Given the description of an element on the screen output the (x, y) to click on. 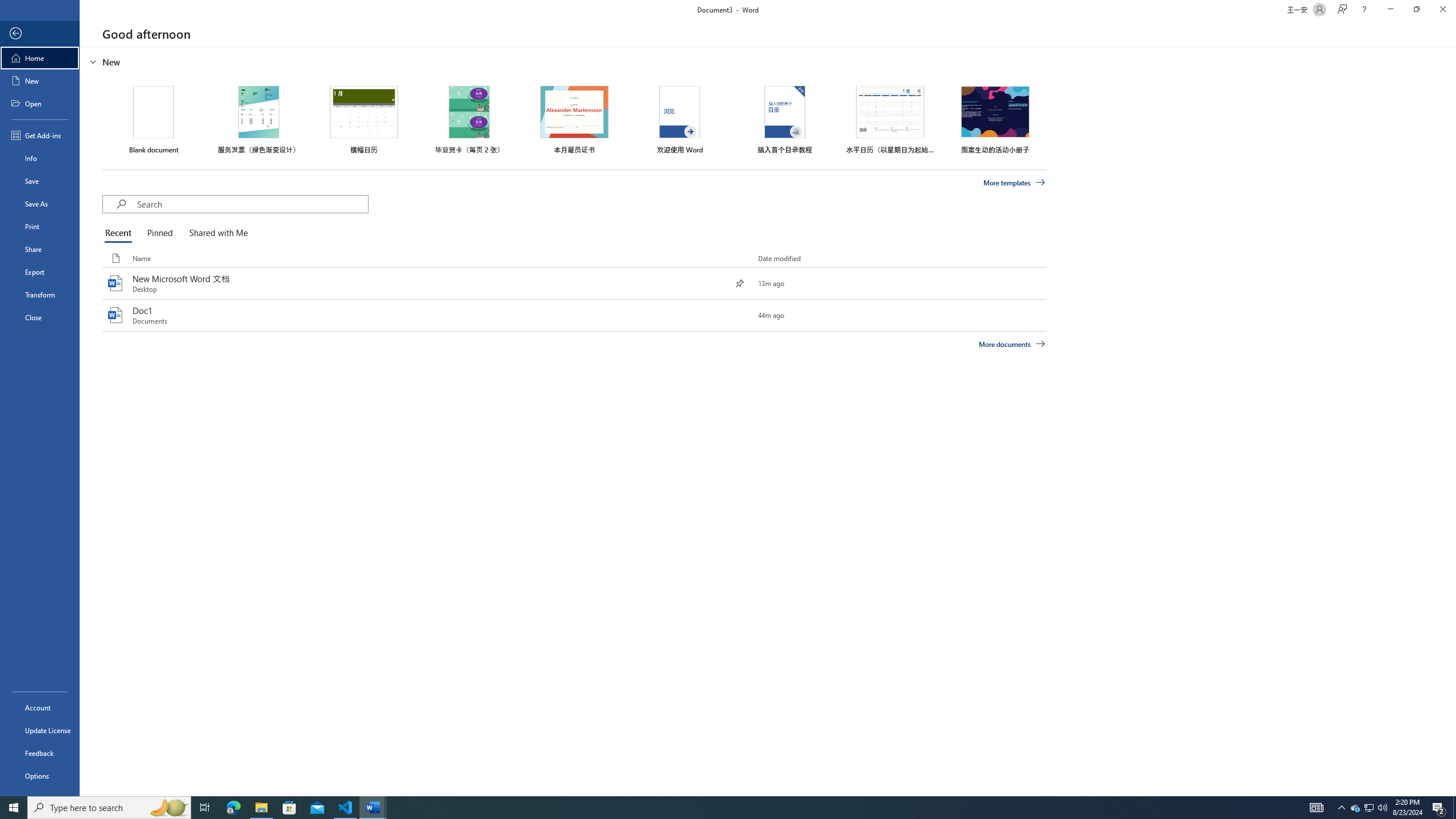
Info (40, 157)
Options (40, 775)
Back (40, 33)
Blank document (153, 119)
Class: NetUIScrollBar (1450, 421)
Unpin this item from the list (739, 282)
